Given the description of an element on the screen output the (x, y) to click on. 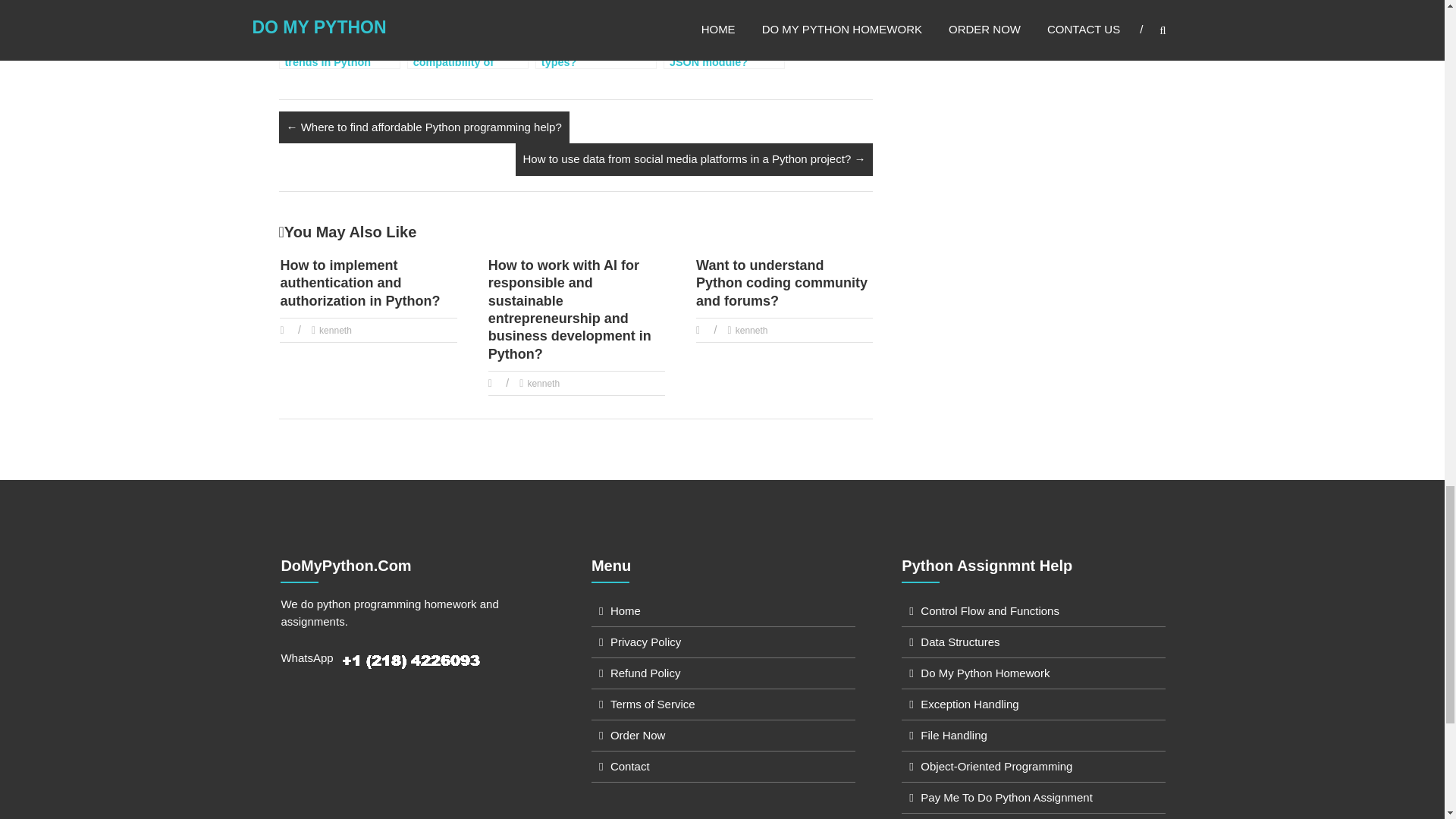
What are Python data types? (595, 34)
kenneth (335, 330)
How to implement authentication and authorization in Python? (359, 282)
What are the latest trends in Python programming? (339, 34)
kenneth (335, 330)
How to implement authentication and authorization in Python? (359, 282)
What are Python data types? (595, 34)
